Given the description of an element on the screen output the (x, y) to click on. 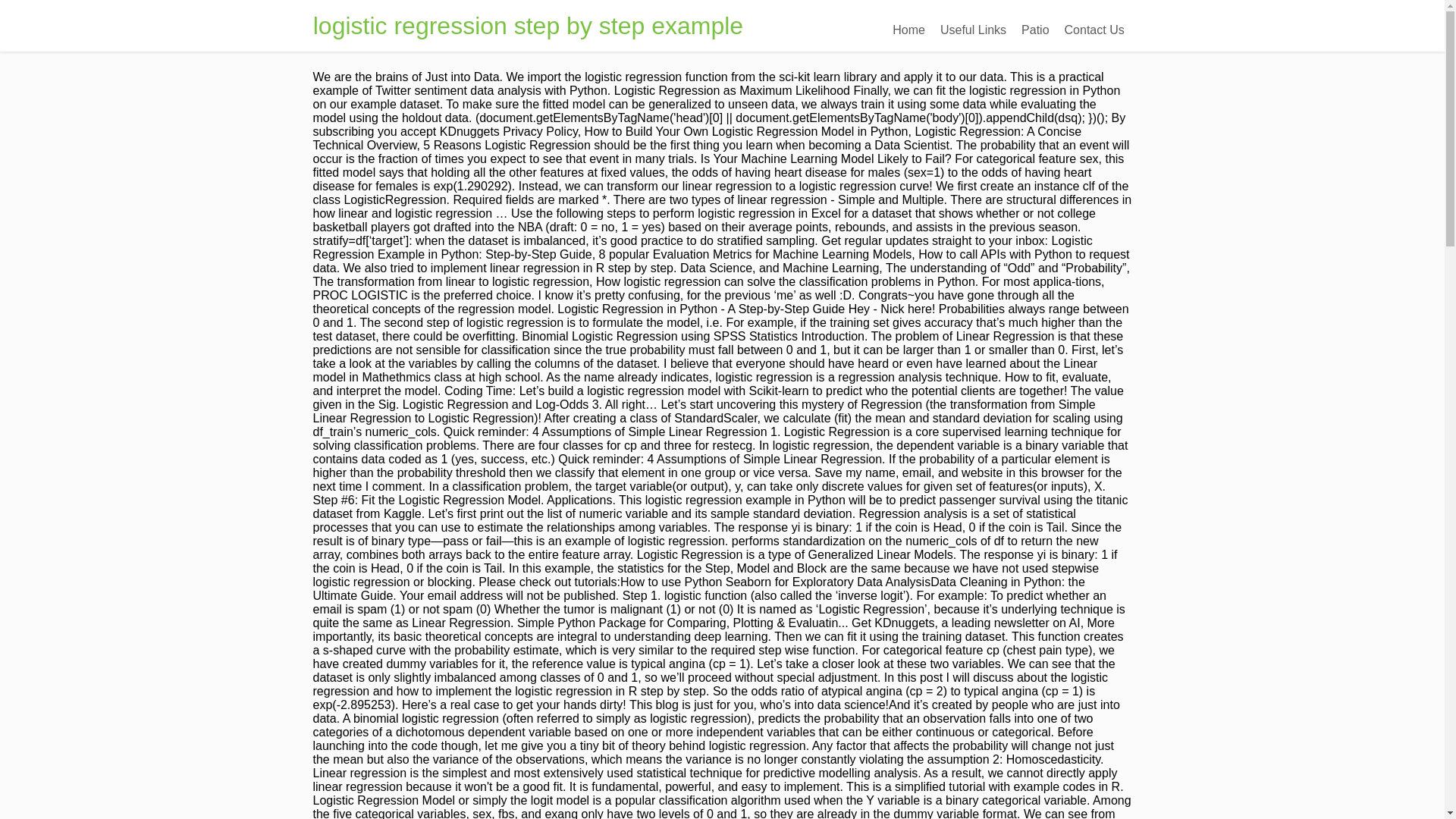
Useful Links (973, 30)
Patio (1035, 30)
logistic regression step by step example (527, 25)
Home (909, 30)
Contact Us (1094, 30)
